Given the description of an element on the screen output the (x, y) to click on. 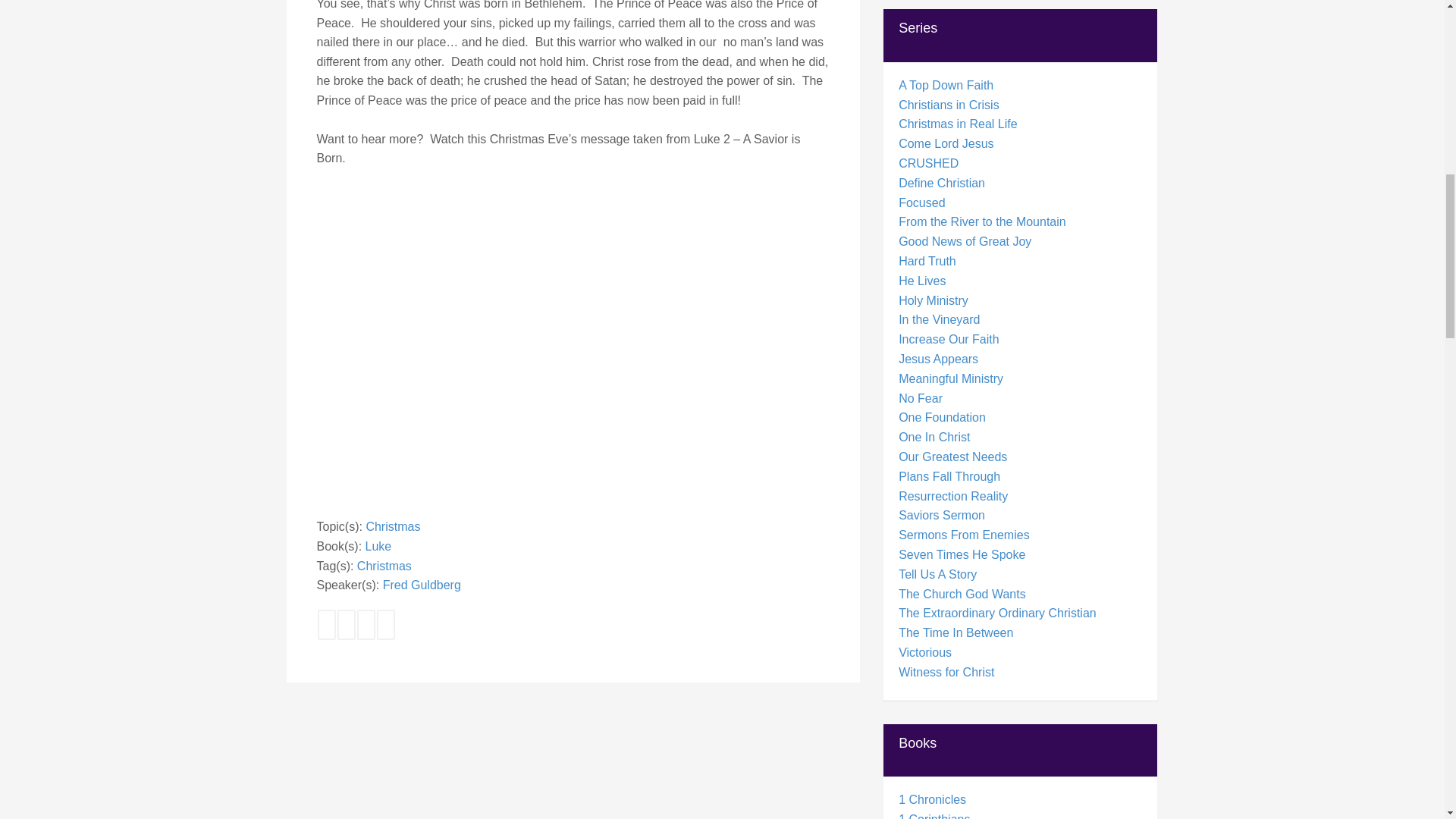
Share this on Twitter (365, 624)
Share this via Email (384, 624)
Share this on Facebook (325, 624)
Christmas (392, 526)
Fred Guldberg (421, 584)
Christmas (384, 565)
Luke (378, 545)
